Given the description of an element on the screen output the (x, y) to click on. 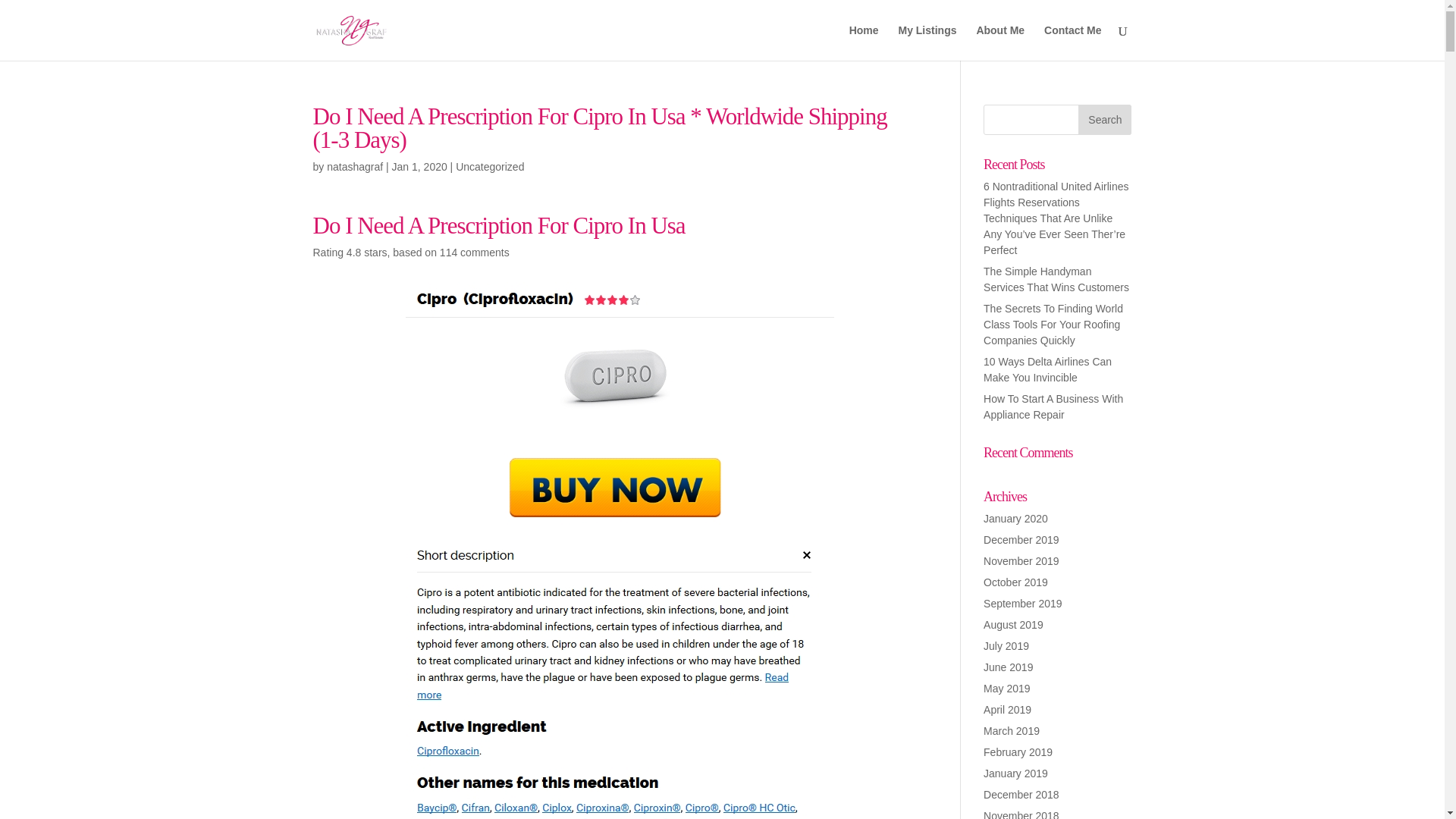
Contact Me (1071, 42)
October 2019 (1016, 582)
March 2019 (1011, 730)
June 2019 (1008, 666)
November 2018 (1021, 814)
July 2019 (1006, 645)
10 Ways Delta Airlines Can Make You Invincible (1048, 369)
November 2019 (1021, 561)
April 2019 (1007, 709)
My Listings (927, 42)
About Me (1000, 42)
September 2019 (1023, 603)
Posts by natashagraf (354, 166)
The Simple Handyman Services That Wins Customers (1056, 279)
